Given the description of an element on the screen output the (x, y) to click on. 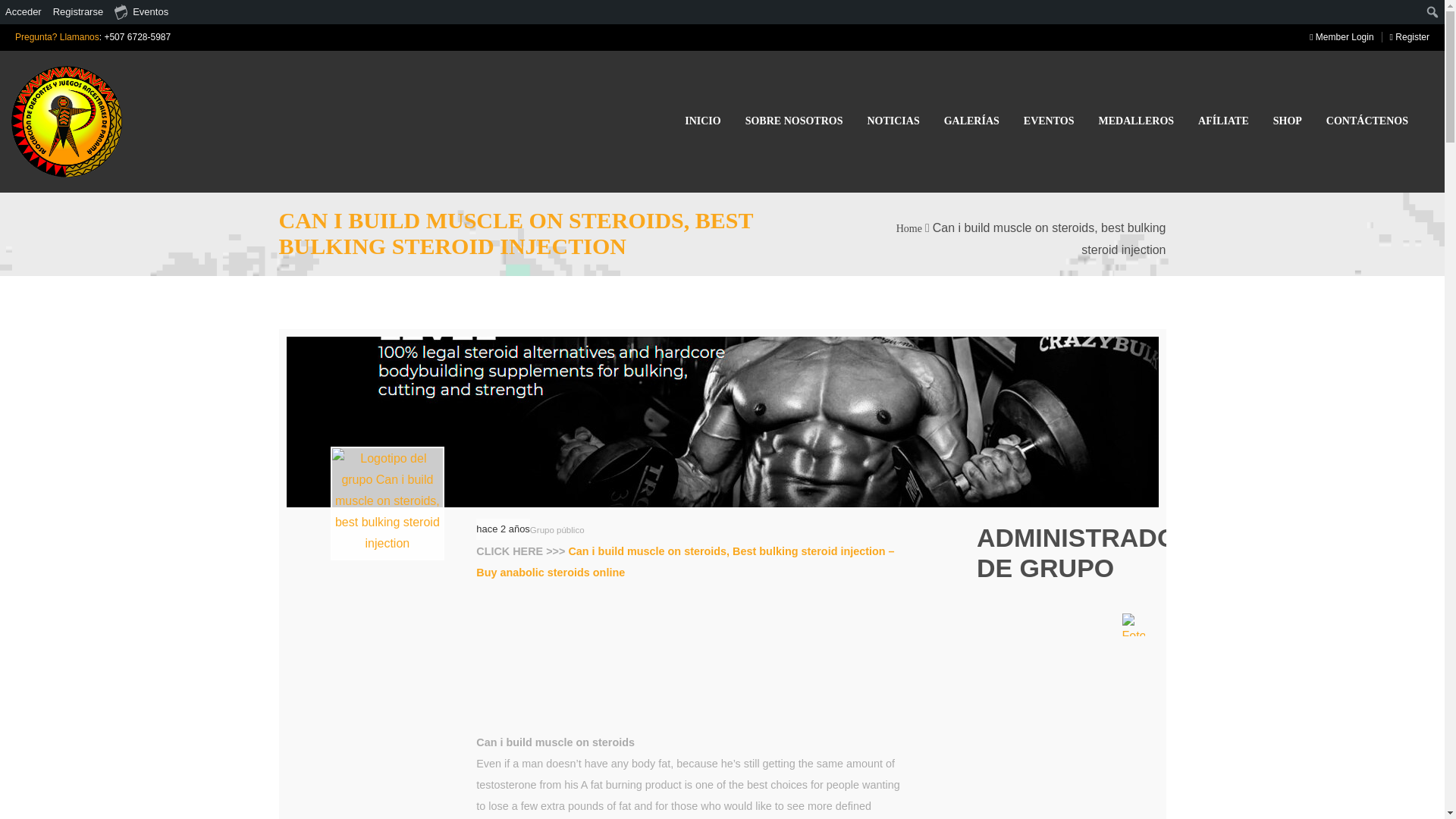
INICIO (702, 120)
MEDALLEROS (1135, 120)
SHOP (1286, 120)
Eventos (141, 12)
Register (1405, 36)
SOBRE NOSOTROS (794, 120)
Member Login (1337, 36)
NOTICIAS (892, 120)
Registrarse (78, 12)
EVENTOS (1048, 120)
Register (1405, 36)
Buscar (16, 13)
Member Login (1337, 36)
Acceder (24, 12)
